Given the description of an element on the screen output the (x, y) to click on. 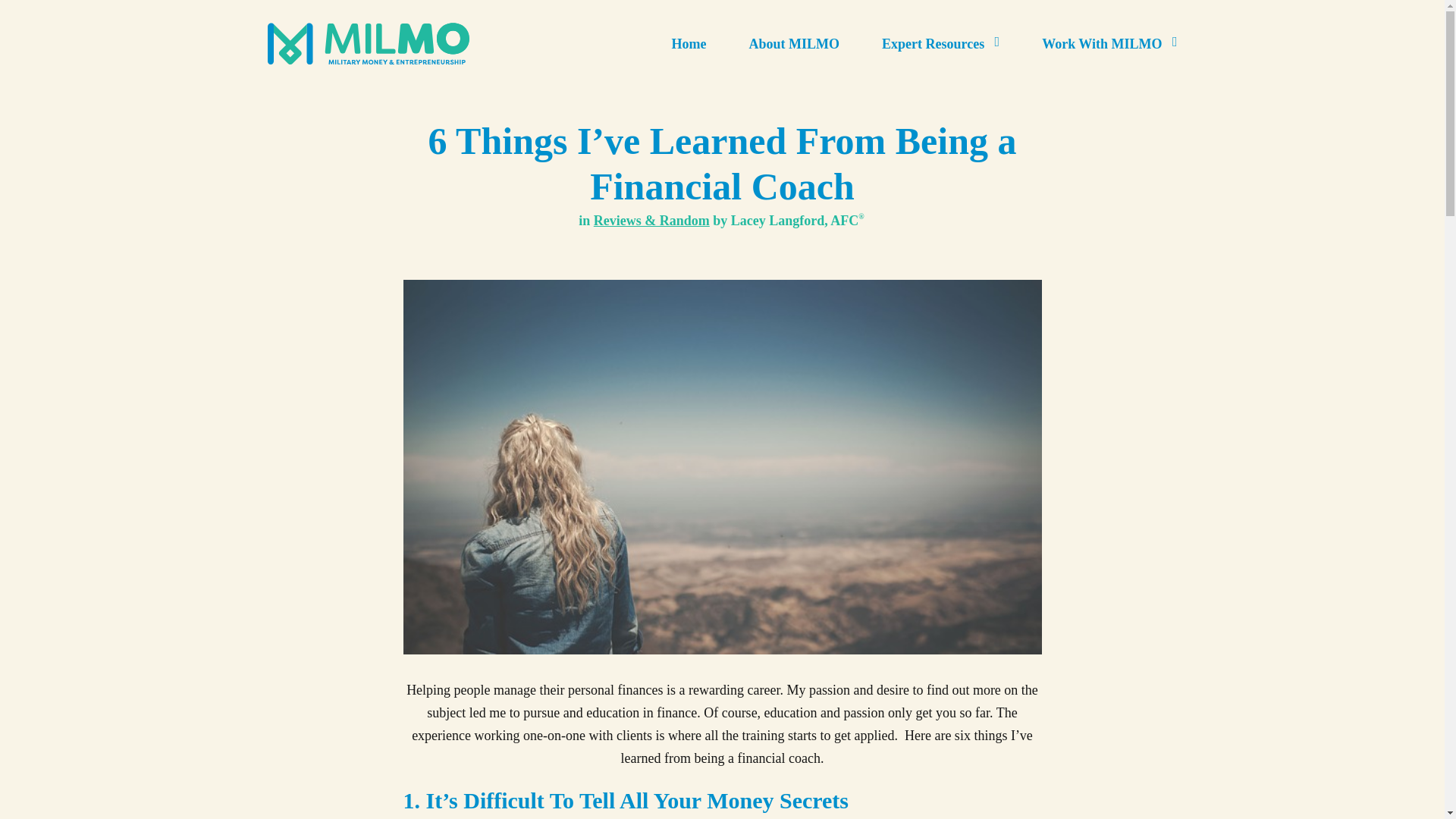
About MILMO (794, 43)
Expert Resources (933, 43)
Home (688, 43)
Work With MILMO (1101, 43)
